Given the description of an element on the screen output the (x, y) to click on. 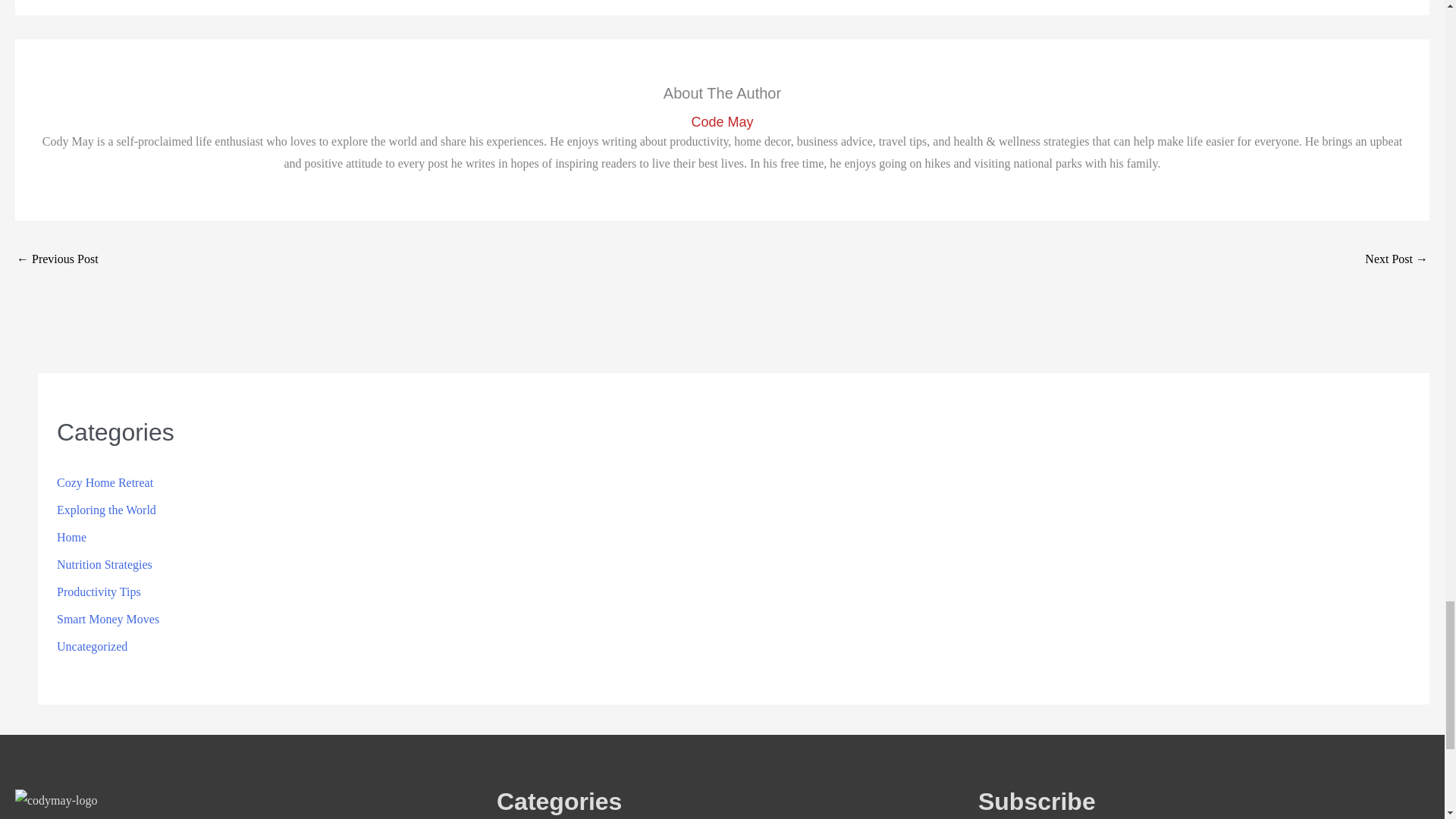
Exploring the World (105, 509)
Nutrition Strategies (104, 563)
Productivity Tips (98, 591)
Business Capital: Why Your Business is Lacking It (1396, 260)
Code May (721, 122)
Smart Money Moves (107, 618)
Home (70, 536)
Cozy Home Retreat (104, 481)
Uncategorized (92, 645)
